Given the description of an element on the screen output the (x, y) to click on. 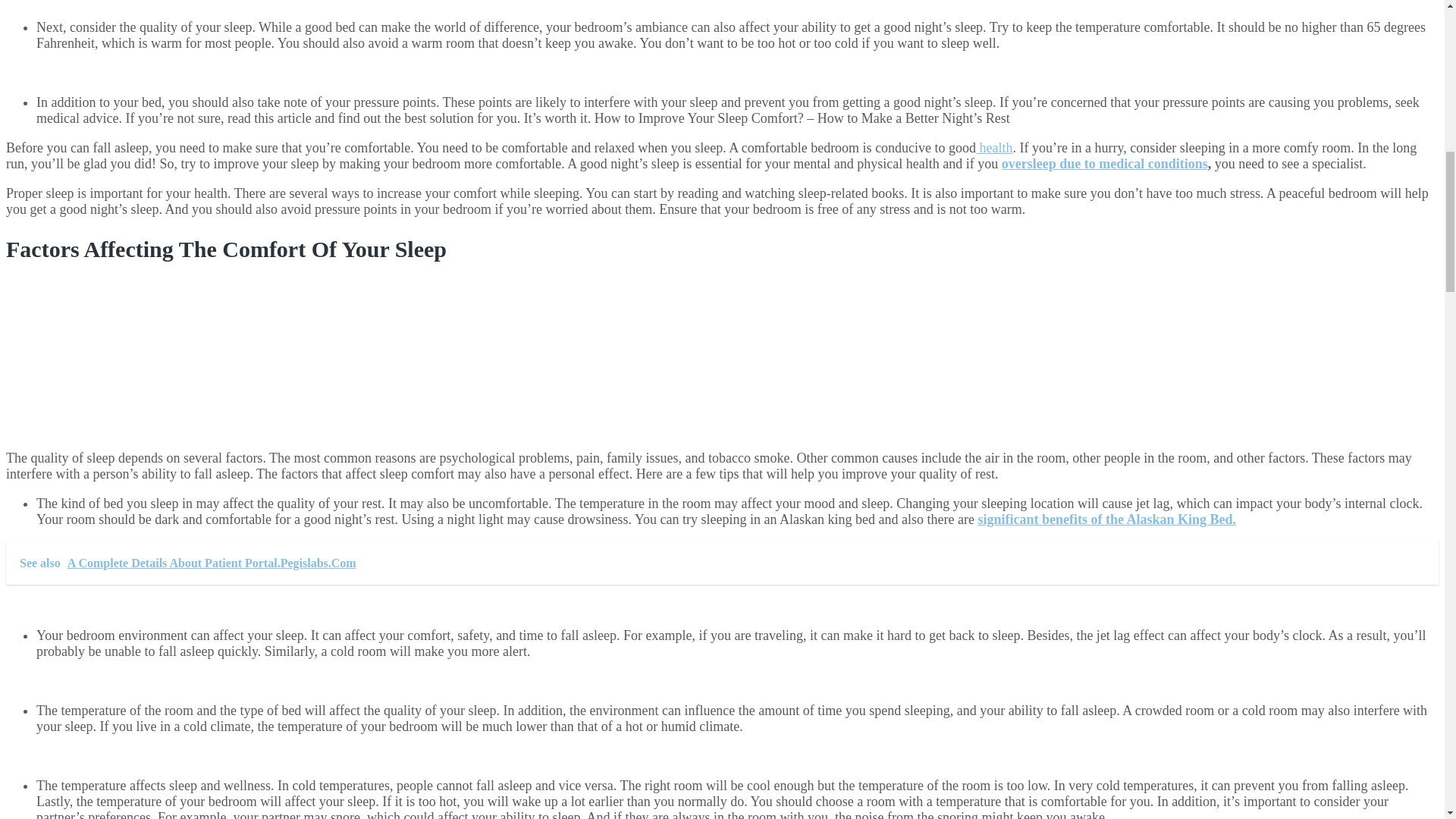
oversleep due to medical conditions (1104, 163)
significant benefits of the Alaskan King Bed. (1106, 519)
health (993, 147)
